Given the description of an element on the screen output the (x, y) to click on. 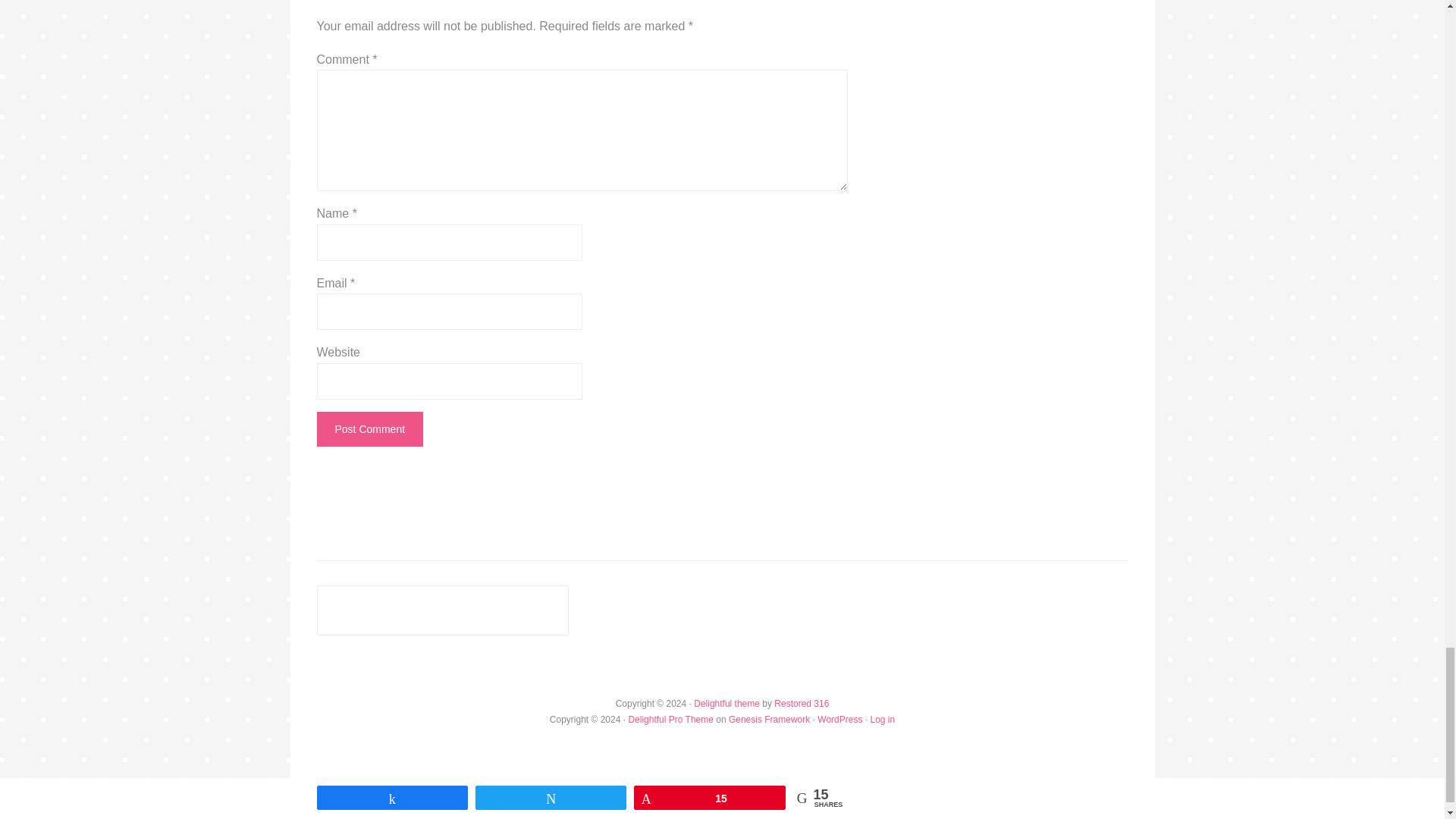
Post Comment (370, 428)
